Given the description of an element on the screen output the (x, y) to click on. 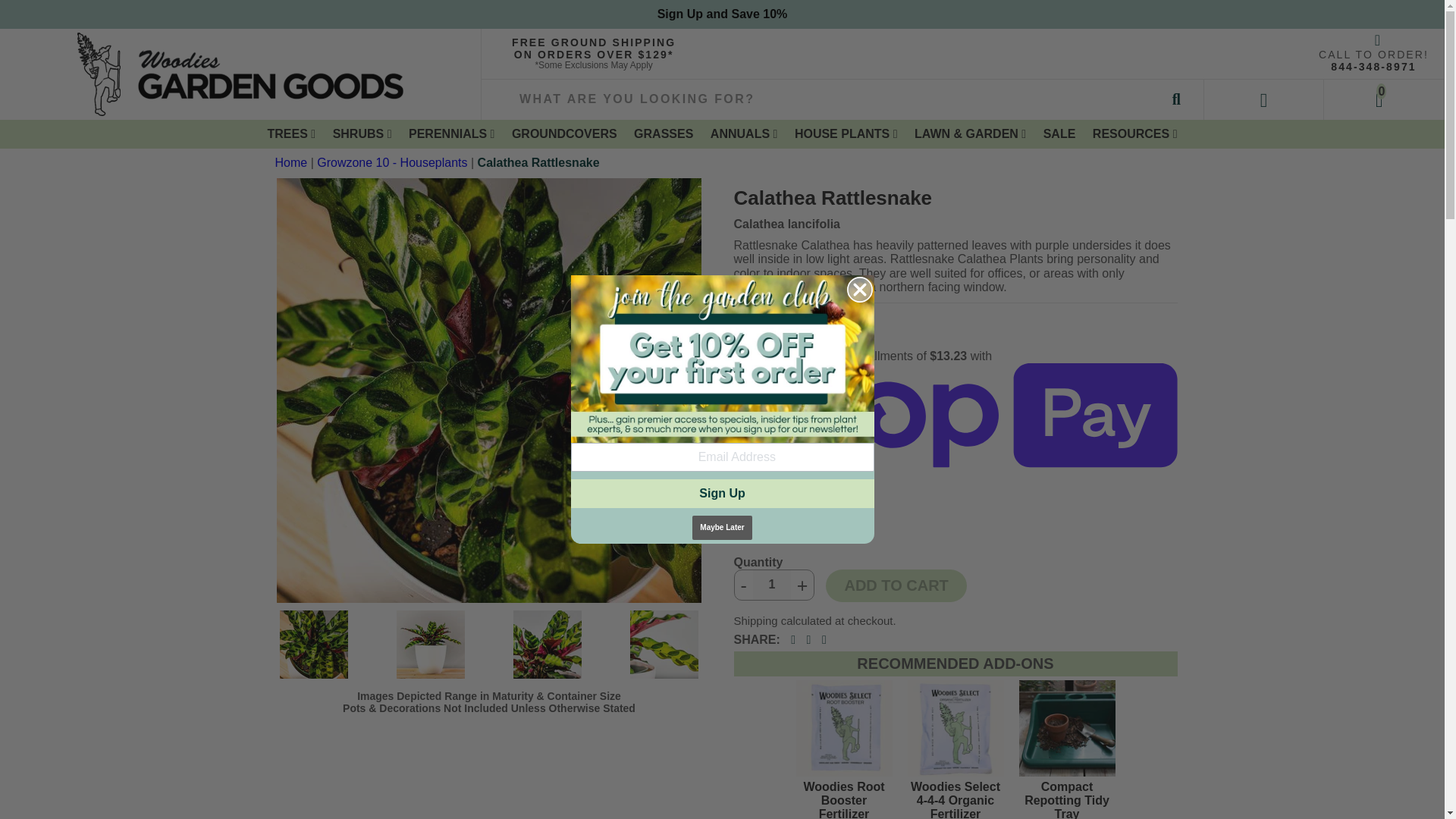
844-348-8971 (1373, 66)
1 (771, 584)
TREES (290, 133)
Close dialog 2 (858, 289)
